Given the description of an element on the screen output the (x, y) to click on. 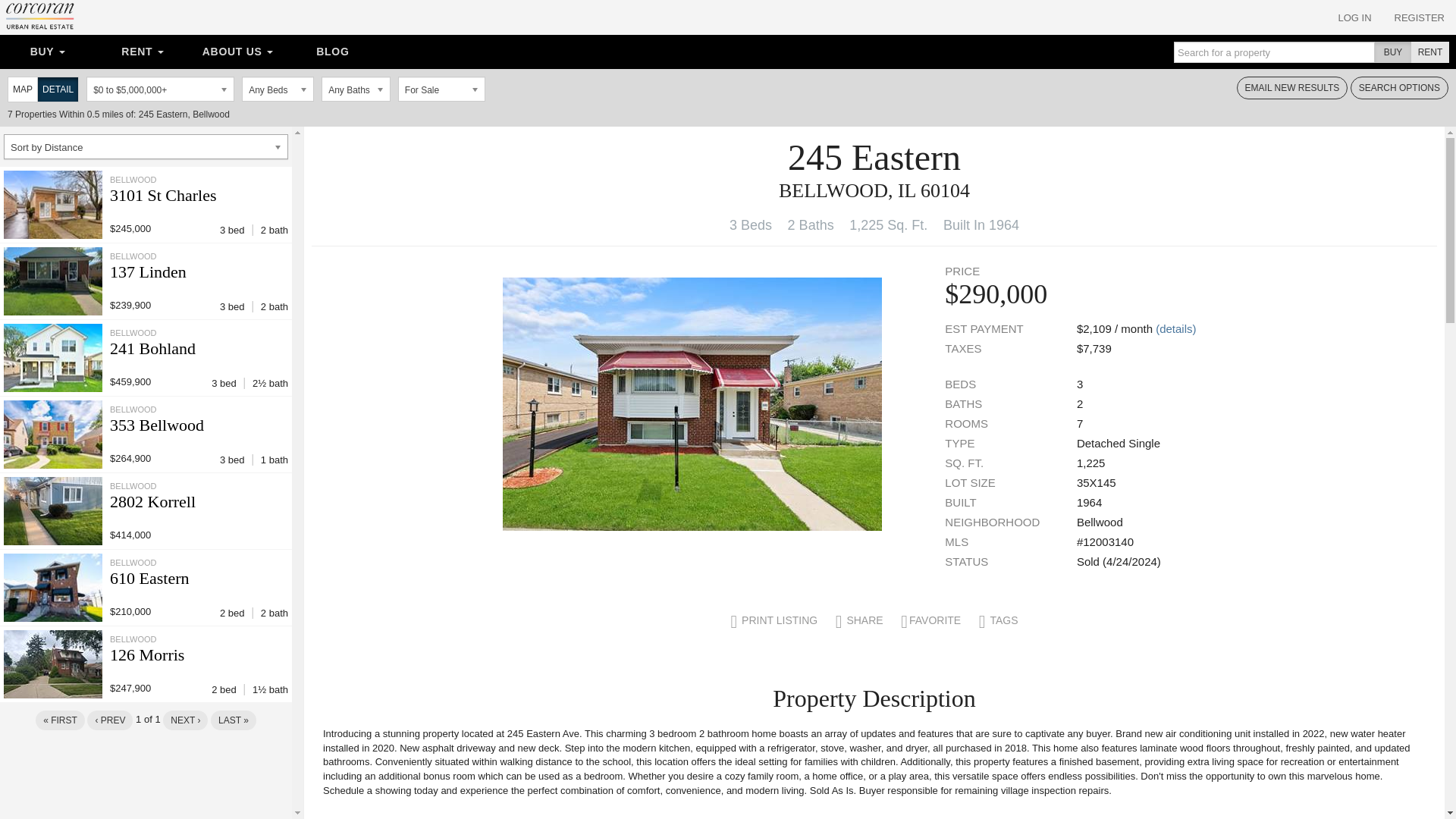
LOG IN (1353, 17)
RENT (1429, 52)
ABOUT US (237, 51)
RENT (141, 51)
BUY (1393, 52)
BUY (47, 51)
MAP (22, 89)
BLOG (332, 51)
DETAIL (57, 89)
